Given the description of an element on the screen output the (x, y) to click on. 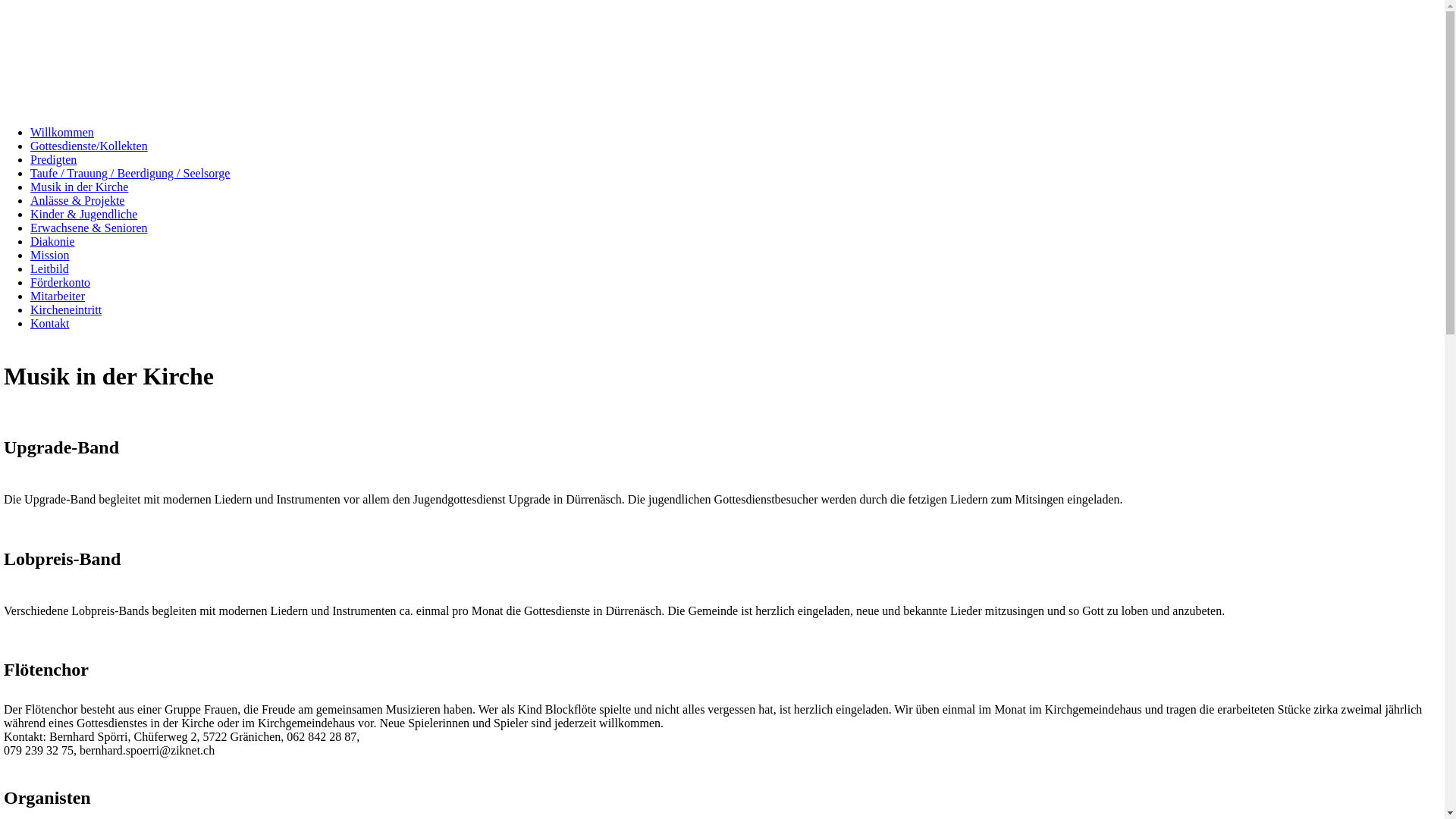
Musik in der Kirche Element type: text (79, 186)
Taufe / Trauung / Beerdigung / Seelsorge Element type: text (129, 172)
Kinder & Jugendliche Element type: text (83, 213)
Kontakt Element type: text (49, 322)
Mitarbeiter Element type: text (57, 295)
Erwachsene & Senioren Element type: text (88, 227)
Mission Element type: text (49, 254)
Diakonie Element type: text (52, 241)
Gottesdienste/Kollekten Element type: text (88, 145)
Predigten Element type: text (53, 159)
Leitbild Element type: text (49, 268)
Willkommen Element type: text (62, 131)
Kircheneintritt Element type: text (65, 309)
